Given the description of an element on the screen output the (x, y) to click on. 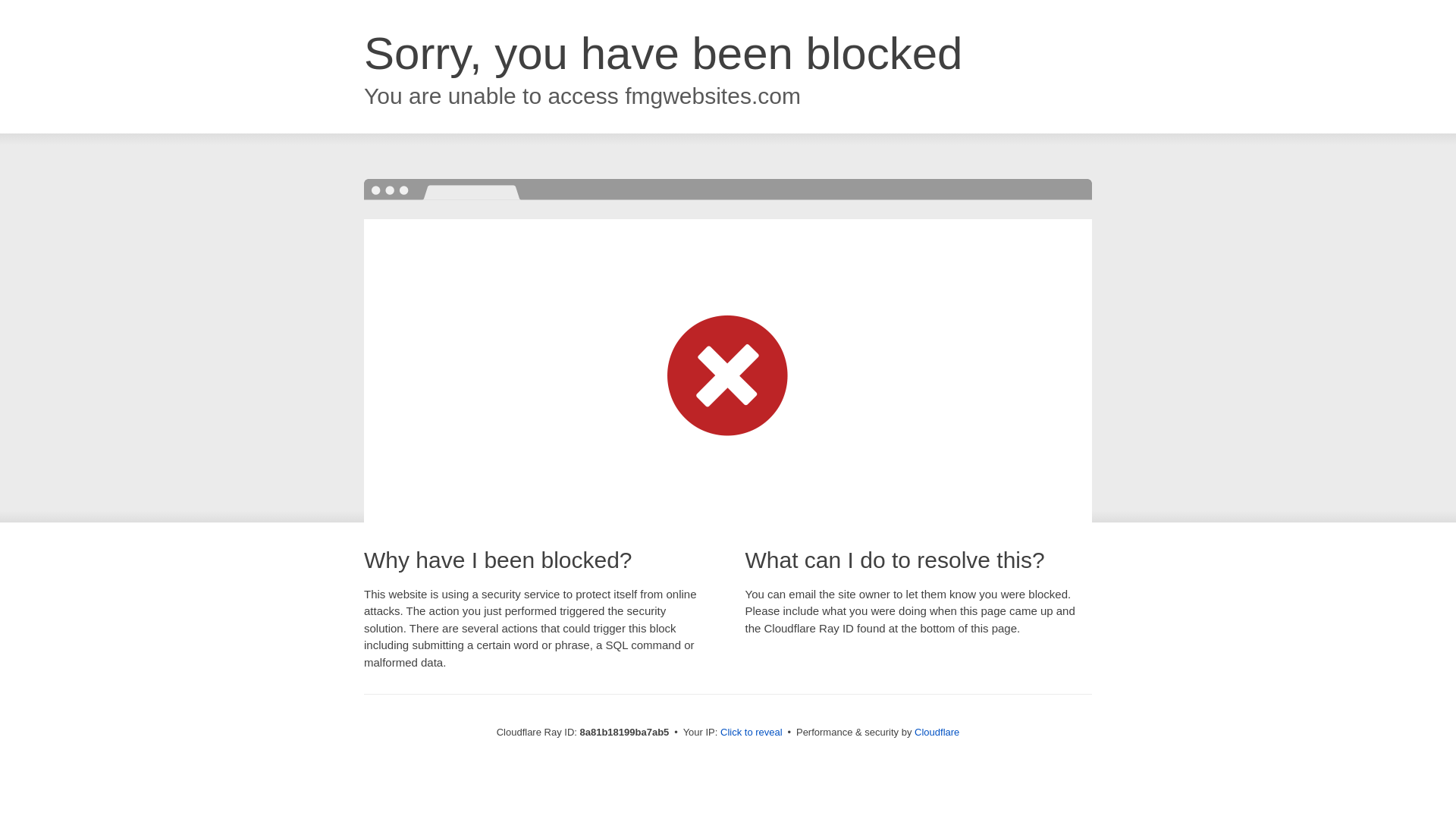
Cloudflare (936, 731)
Click to reveal (751, 732)
